Given the description of an element on the screen output the (x, y) to click on. 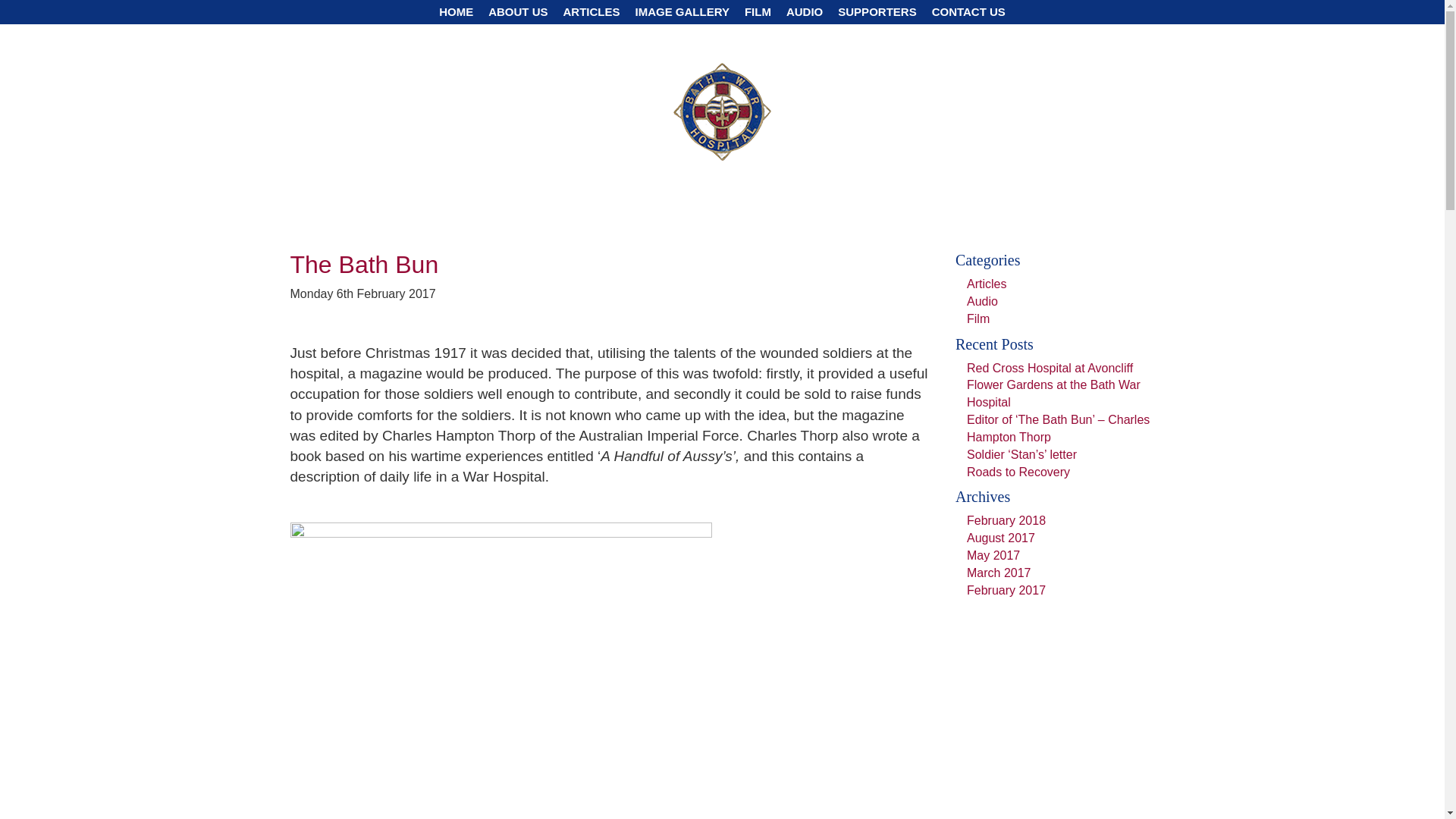
Audio (981, 300)
SUPPORTERS (877, 12)
ABOUT US (517, 12)
February 2017 (1005, 590)
AUDIO (805, 12)
Red Cross Hospital at Avoncliff (1049, 367)
May 2017 (993, 554)
August 2017 (1000, 537)
February 2018 (1005, 520)
Roads to Recovery (1018, 472)
